Given the description of an element on the screen output the (x, y) to click on. 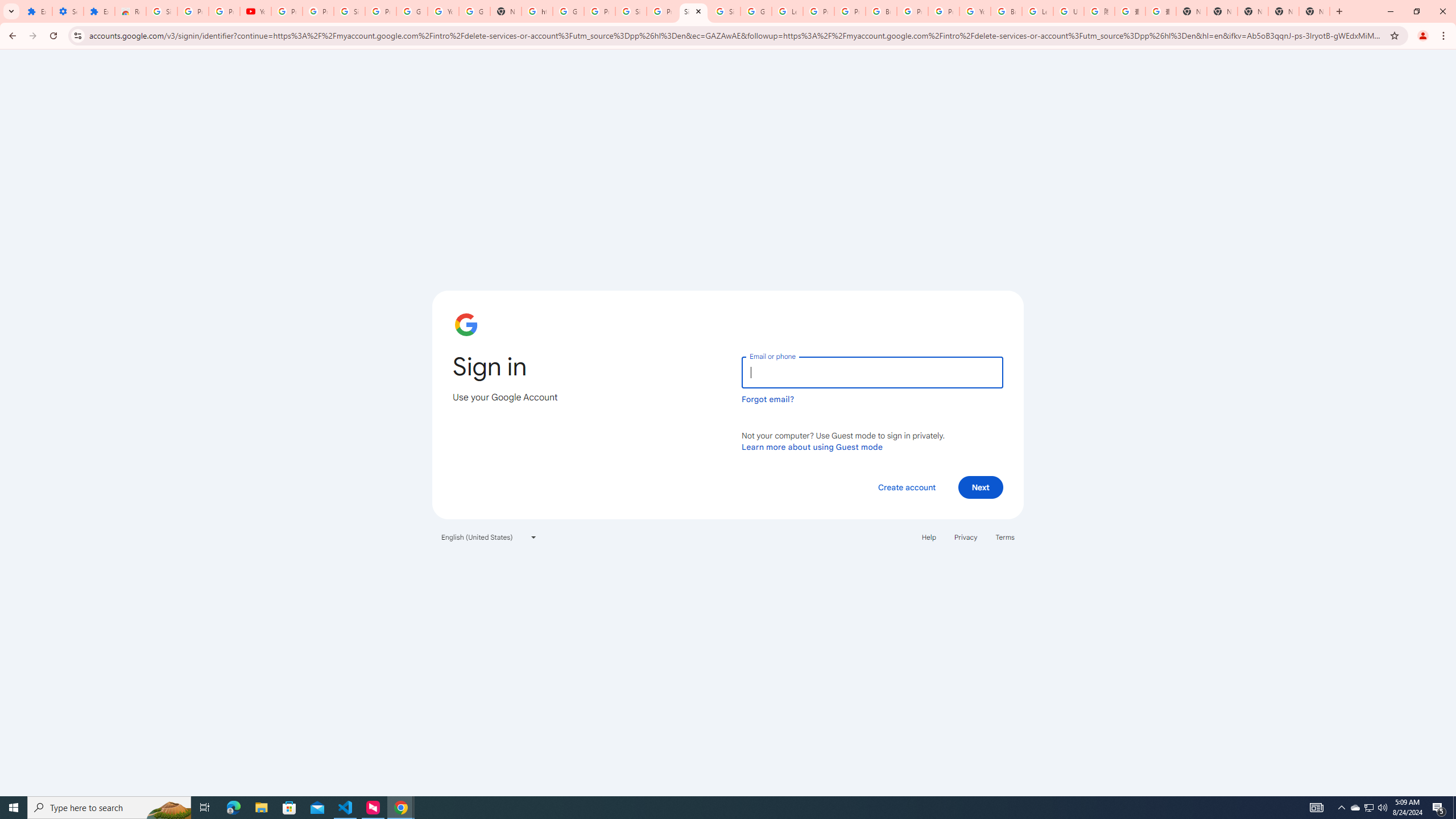
Learn more about using Guest mode (812, 446)
Privacy Help Center - Policies Help (849, 11)
YouTube (255, 11)
Forgot email? (767, 398)
Sign in - Google Accounts (693, 11)
